Given the description of an element on the screen output the (x, y) to click on. 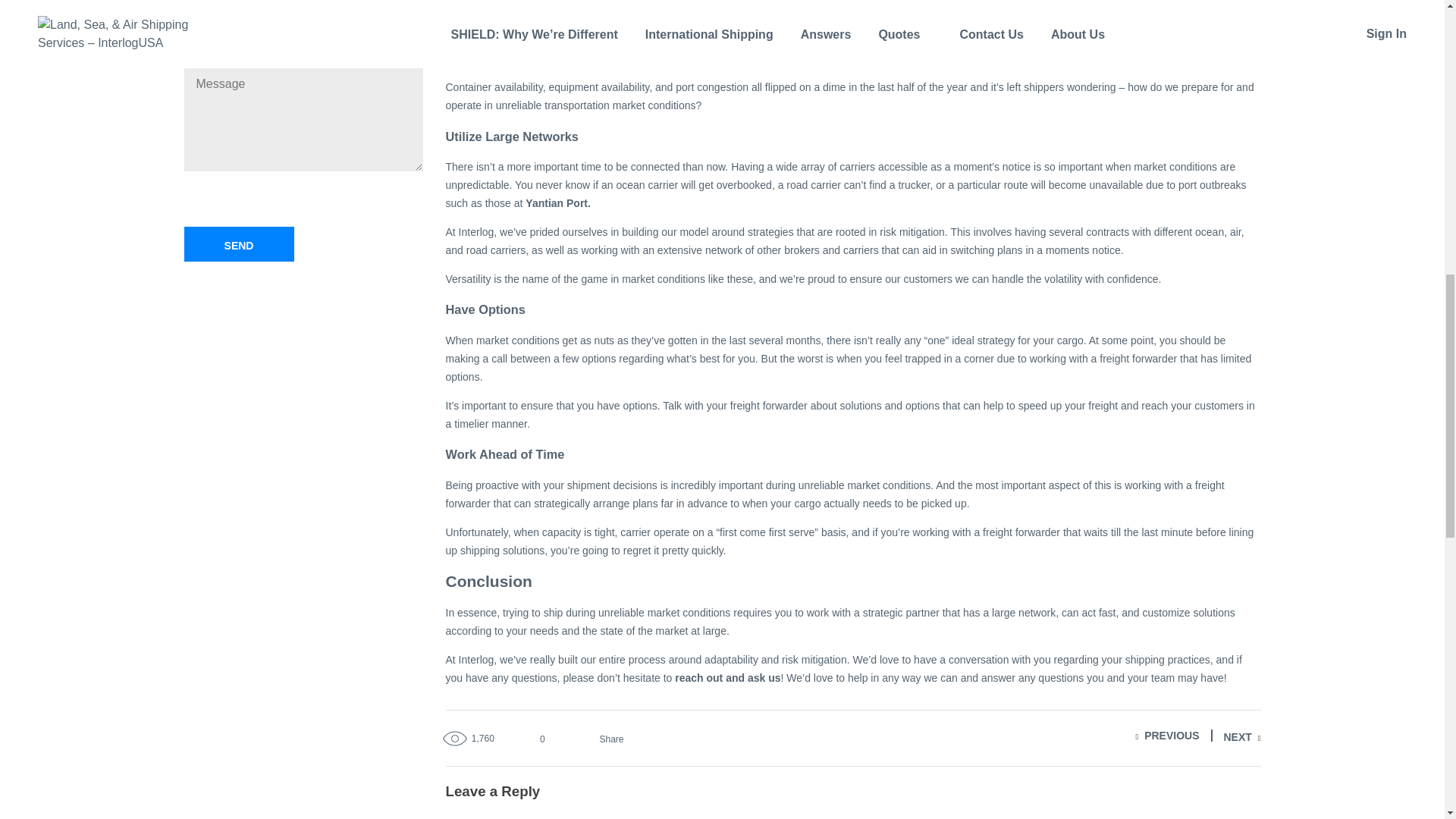
Send (238, 243)
